Given the description of an element on the screen output the (x, y) to click on. 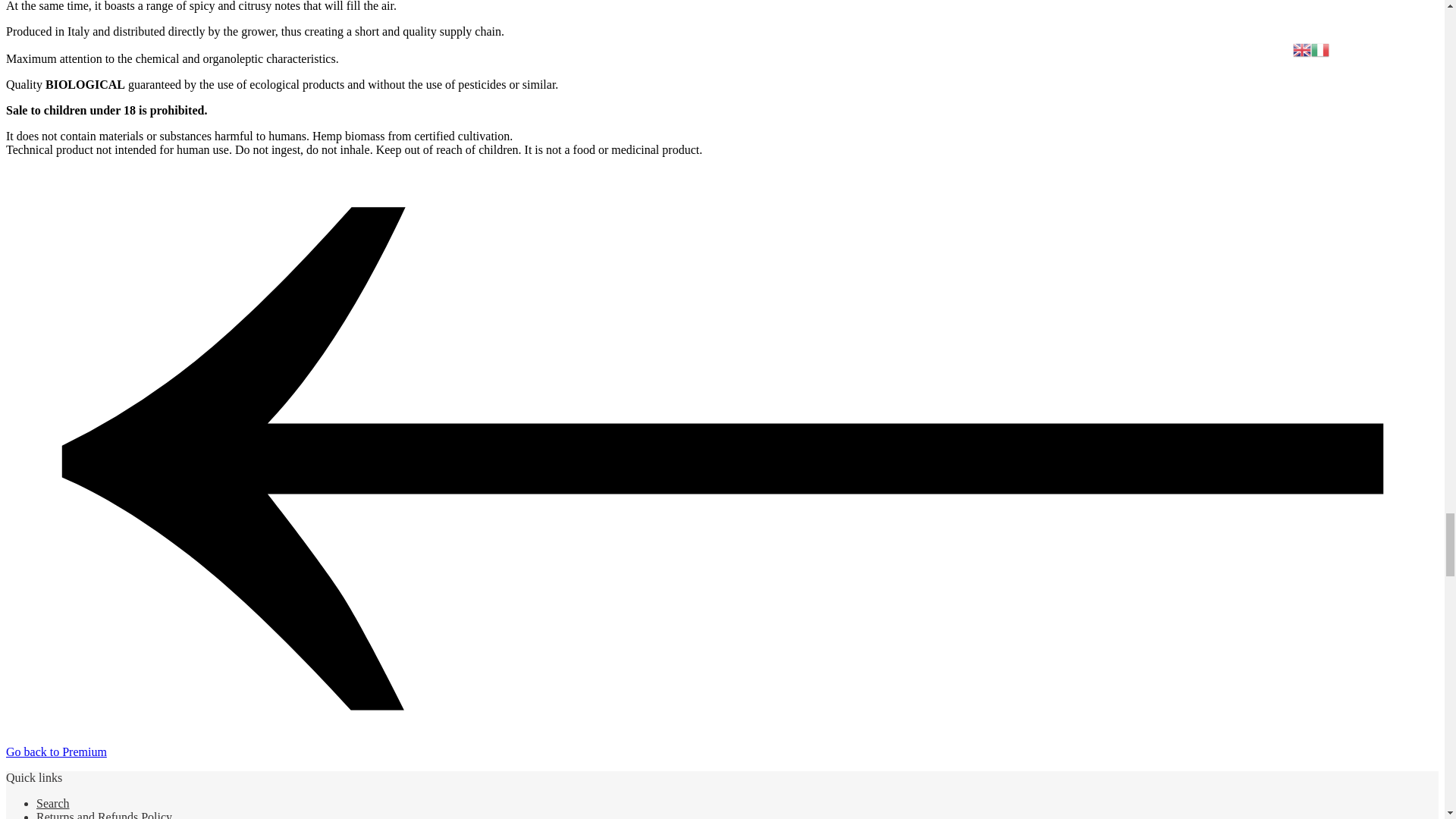
Returns and Refunds Policy (103, 814)
Search (52, 802)
